Given the description of an element on the screen output the (x, y) to click on. 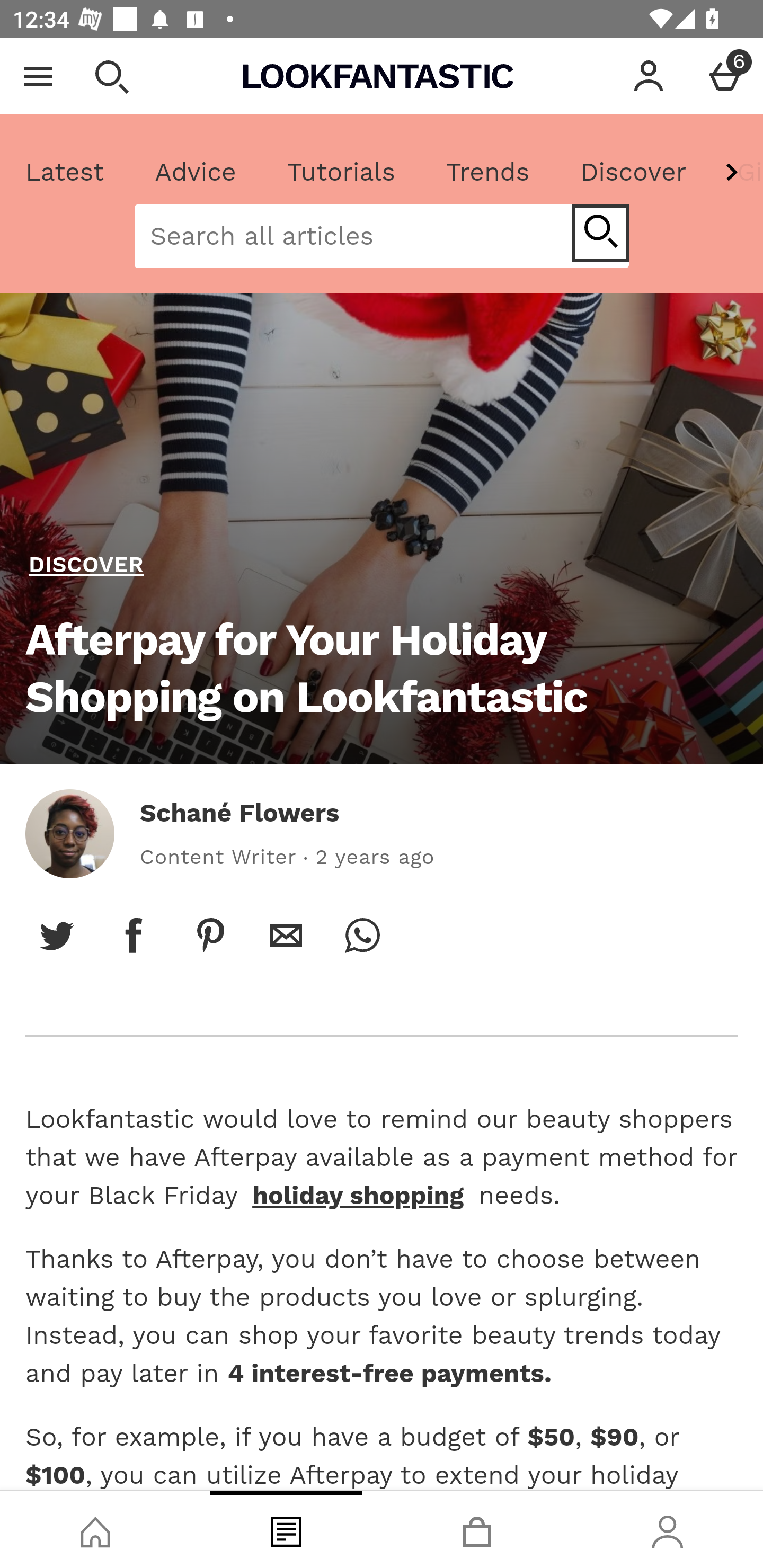
Open Menu (38, 75)
Open search (111, 75)
Account (648, 75)
Basket Menu (724, 75)
Lookfantastic USA Home page (378, 76)
Latest (65, 172)
Advice (195, 172)
Tutorials (340, 172)
Trends (486, 172)
Discover (632, 172)
Gift Guide (736, 172)
start article search (599, 232)
DISCOVER (86, 565)
View Schané Flowers's profile (69, 833)
Schané Flowers (239, 812)
Share this on Twitter (57, 935)
Share this on Facebook (133, 935)
Share this on Pinterest (209, 935)
Share this by Email (286, 935)
Share this on WhatsApp (362, 935)
holiday shopping (357, 1194)
Shop, tab, 1 of 4 (95, 1529)
Blog, tab, 2 of 4 (285, 1529)
Basket, tab, 3 of 4 (476, 1529)
Account, tab, 4 of 4 (667, 1529)
